Given the description of an element on the screen output the (x, y) to click on. 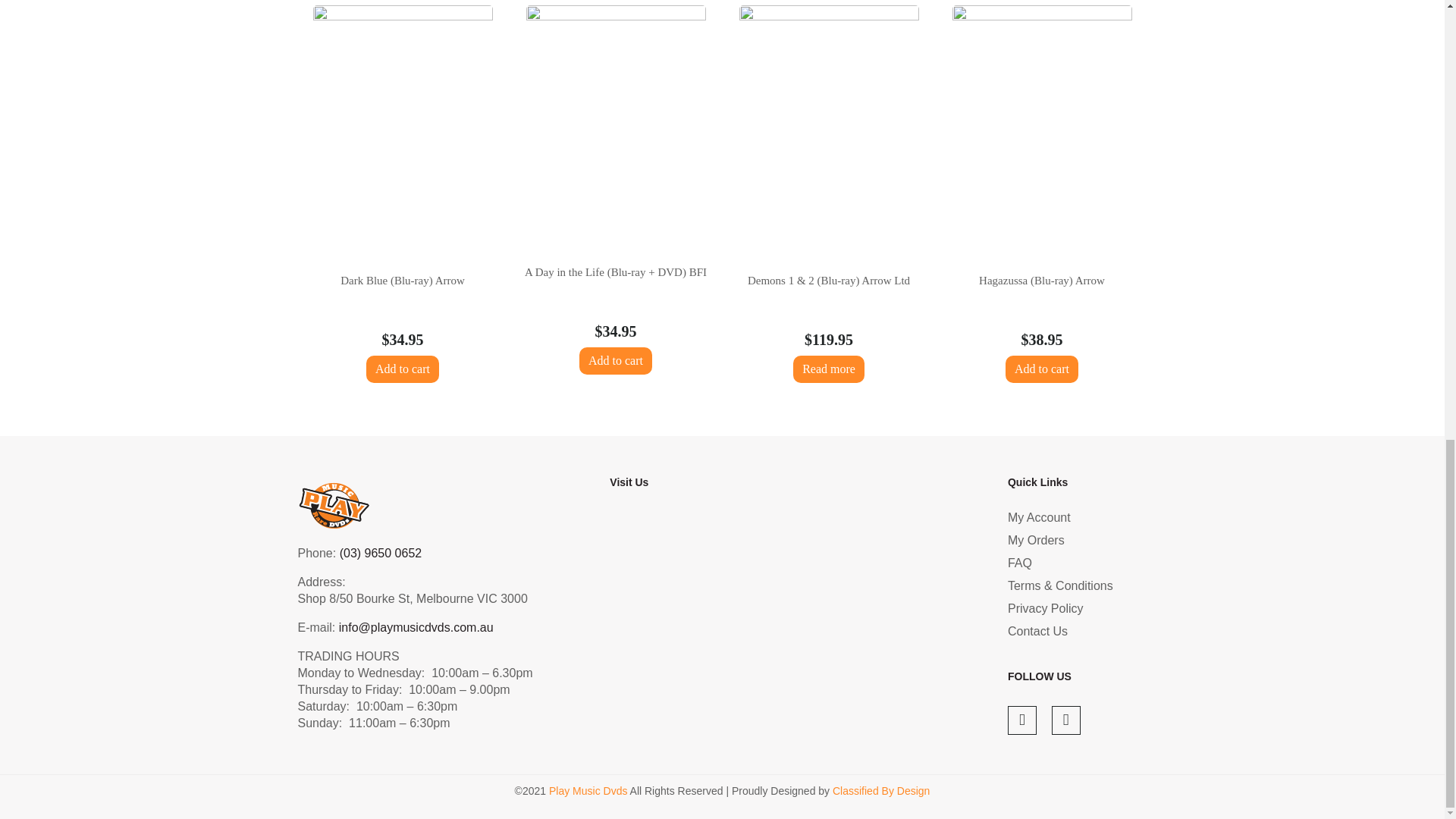
Add to cart (402, 369)
Play music DVDs (789, 625)
Read more (828, 369)
Add to cart (1042, 369)
Add to cart (615, 360)
